Given the description of an element on the screen output the (x, y) to click on. 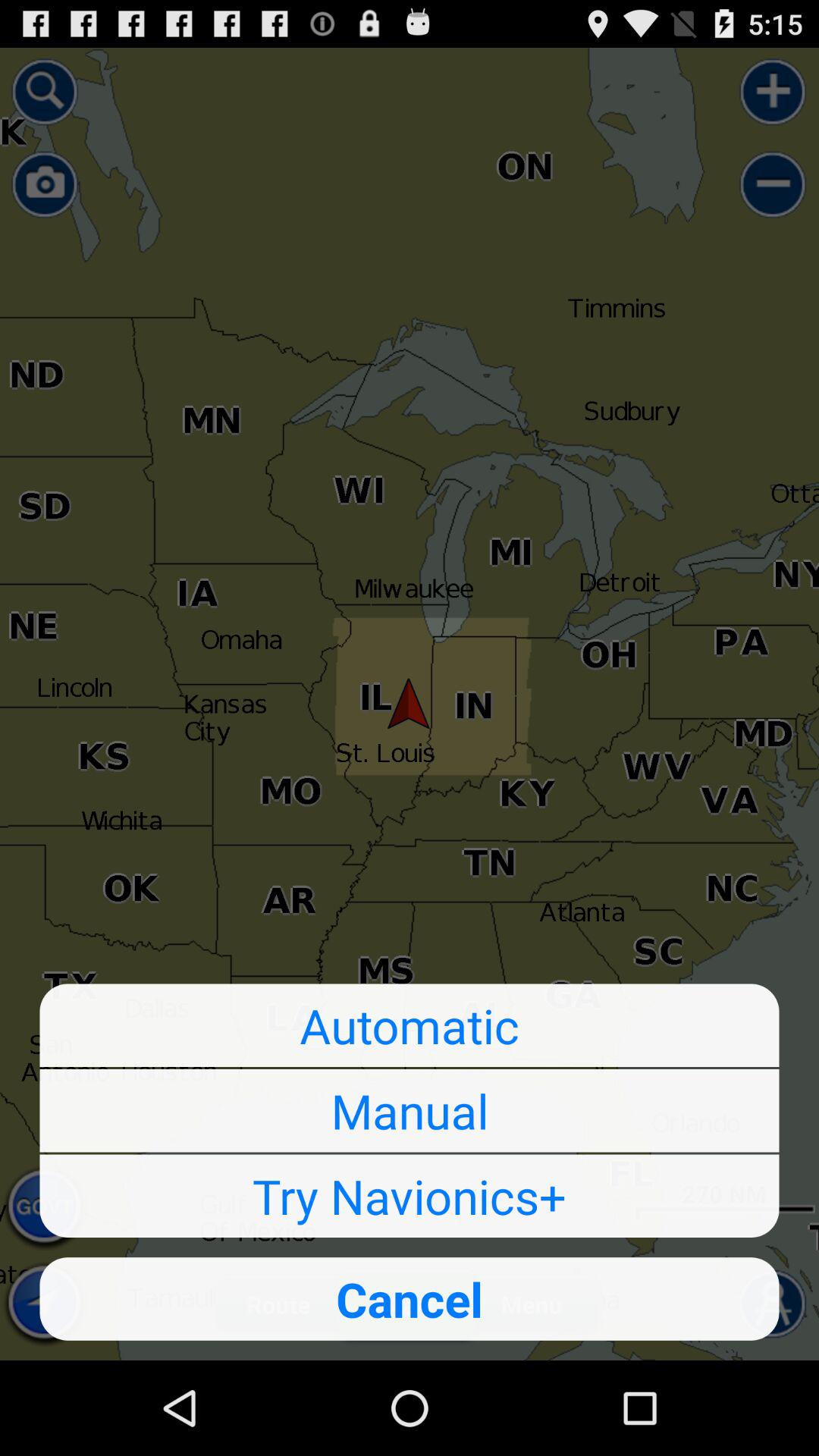
tap manual button (409, 1110)
